Given the description of an element on the screen output the (x, y) to click on. 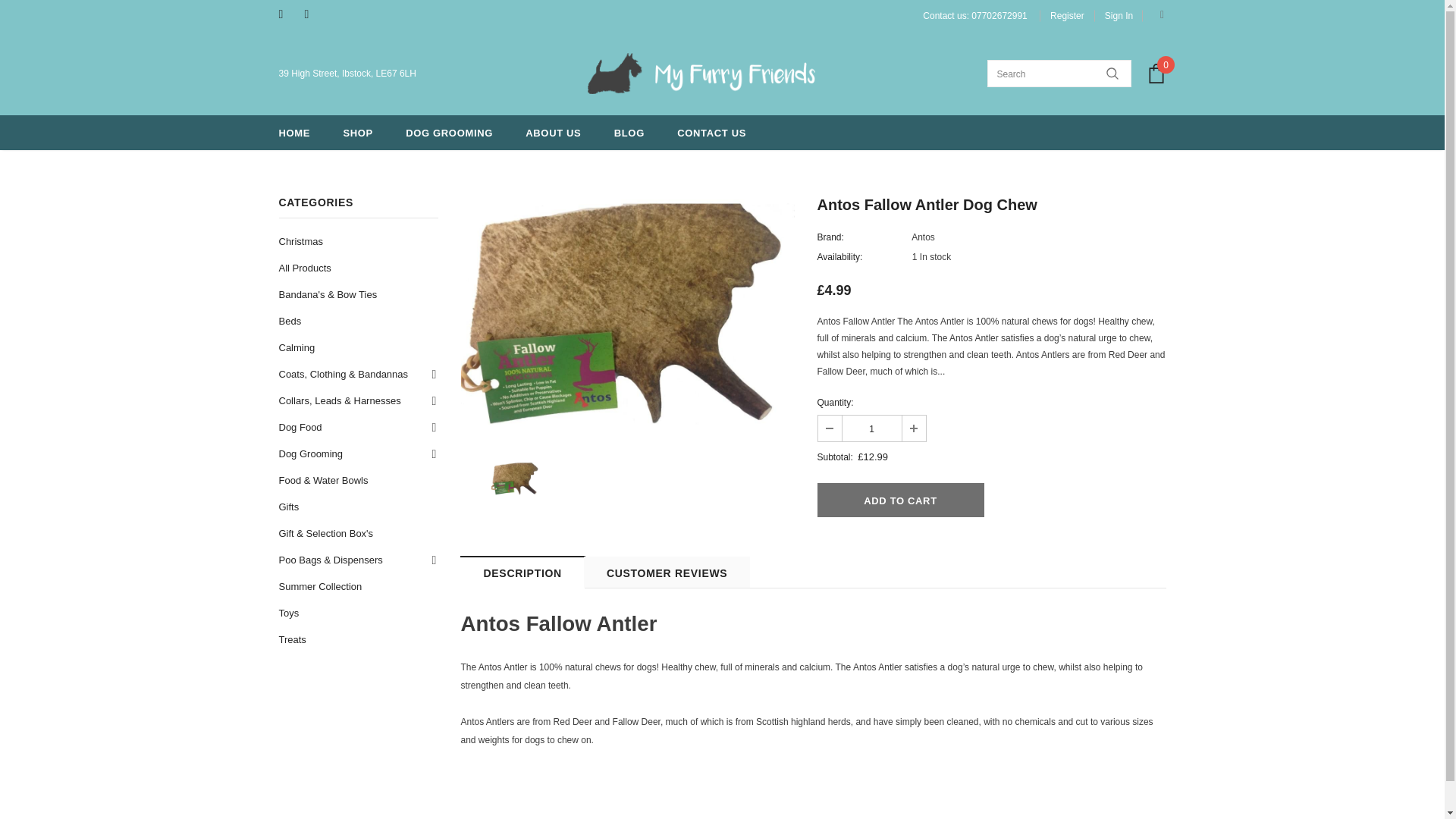
Instagram (313, 14)
DOG GROOMING (449, 132)
CONTACT US (711, 132)
Dog Food (300, 427)
Christmas (301, 241)
Register (1066, 15)
Logo (701, 73)
1 (871, 428)
0 (1156, 73)
ABOUT US (552, 132)
